Given the description of an element on the screen output the (x, y) to click on. 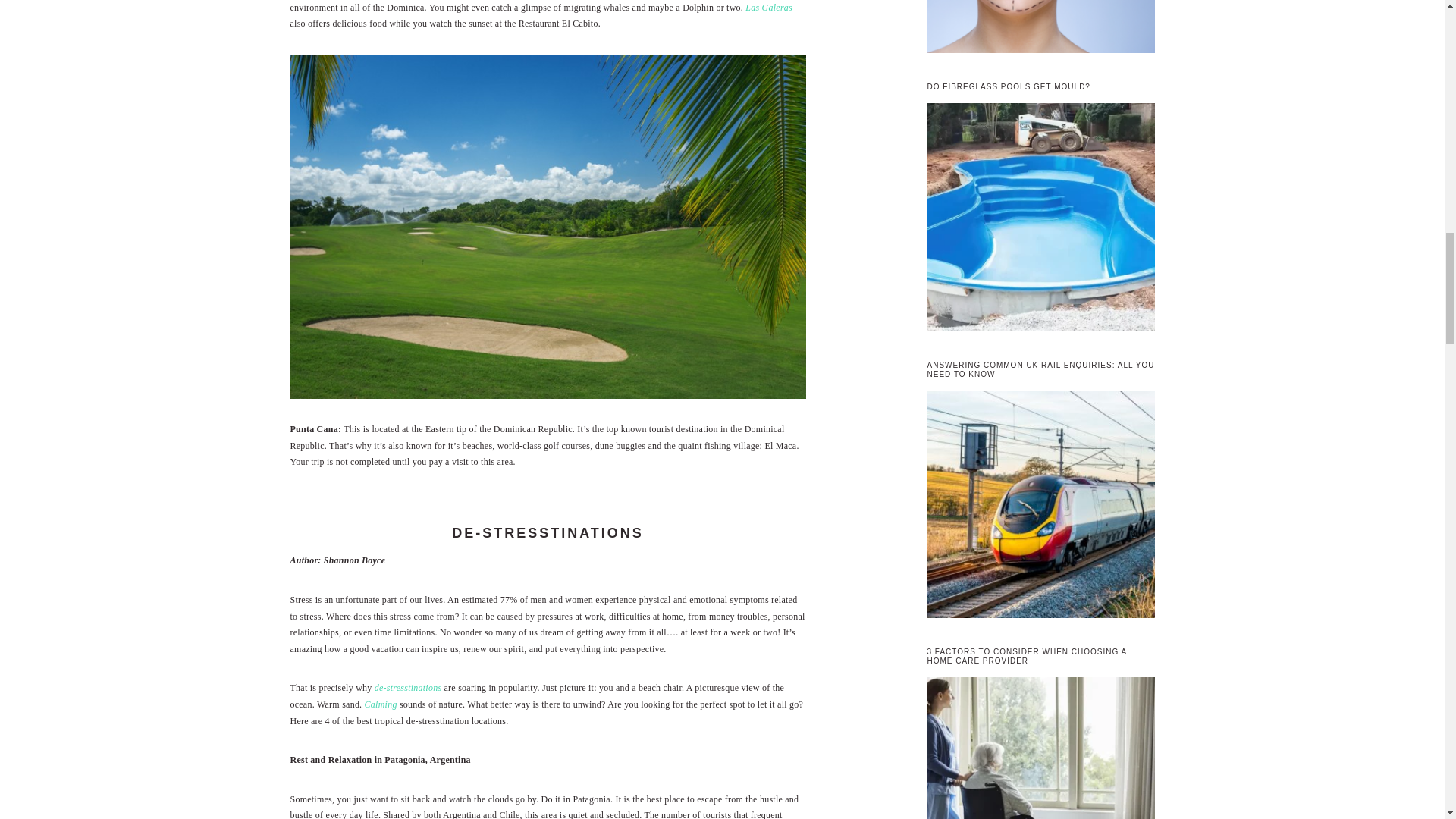
DE-STRESSTINATIONS (547, 532)
3 Factors to Consider When Choosing a Home Care Provider (1040, 748)
de-stresstinations (408, 687)
Las Galeras (768, 6)
Calming (381, 704)
Do Fibreglass Pools Get Mould? (1040, 219)
Answering Common UK Rail Enquiries: All You Need to Know (1040, 506)
How to Choose the Best Mommy Makeover Plastic Surgeon (1040, 29)
